Given the description of an element on the screen output the (x, y) to click on. 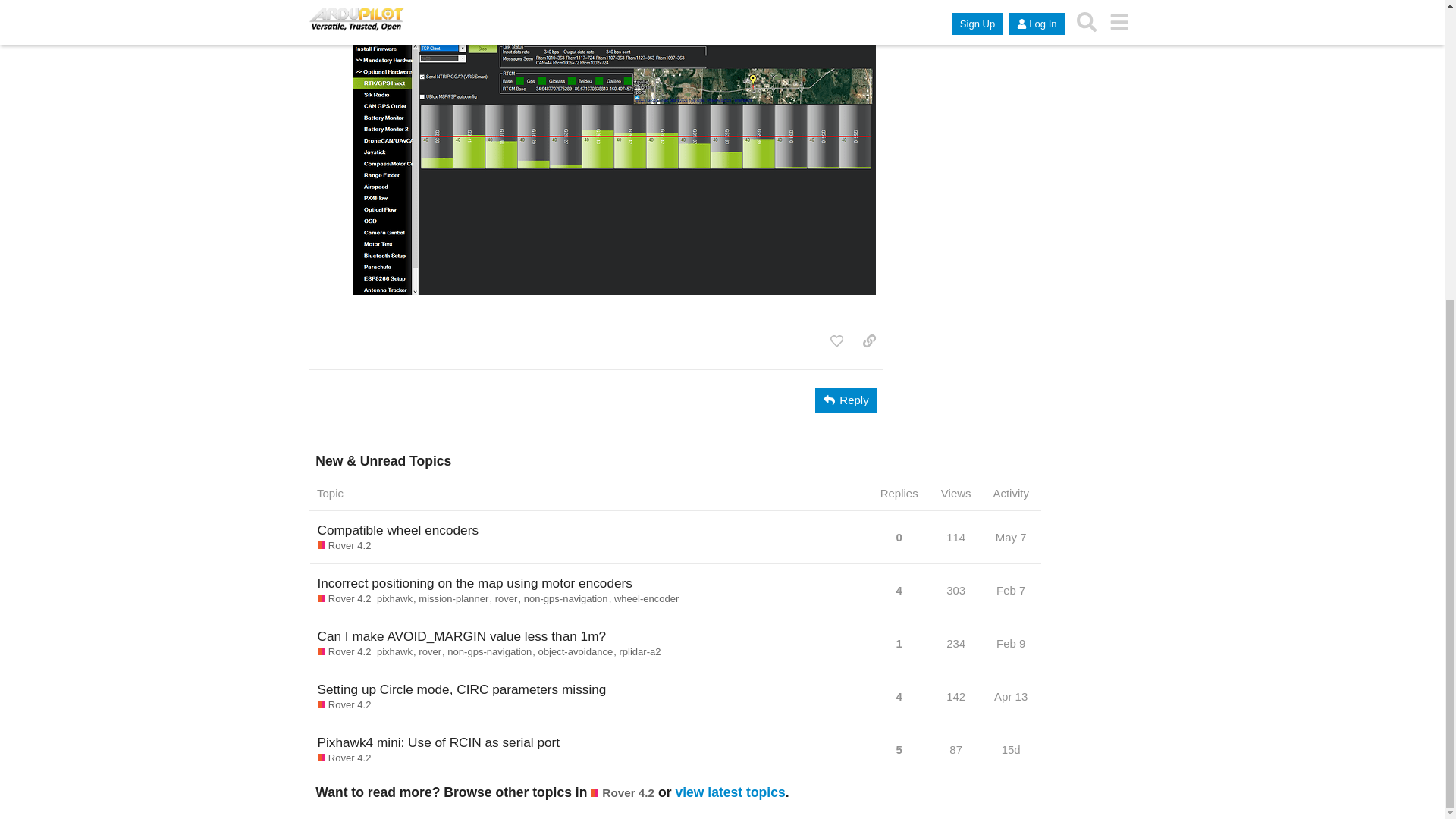
Rover 4.2 (344, 599)
Created: May 7, 2024 7:36 pm (1012, 542)
This topic has 0 replies (898, 542)
non-gps-navigation (569, 599)
pixhawk (398, 599)
wheel-encoder (646, 599)
May 7 (1010, 537)
mission-planner (457, 599)
this topic has been viewed 114 times (955, 536)
Reply (846, 400)
like this post (836, 340)
rover (509, 599)
this topic has been viewed 303 times (955, 590)
Rover 4.2 (344, 545)
